Given the description of an element on the screen output the (x, y) to click on. 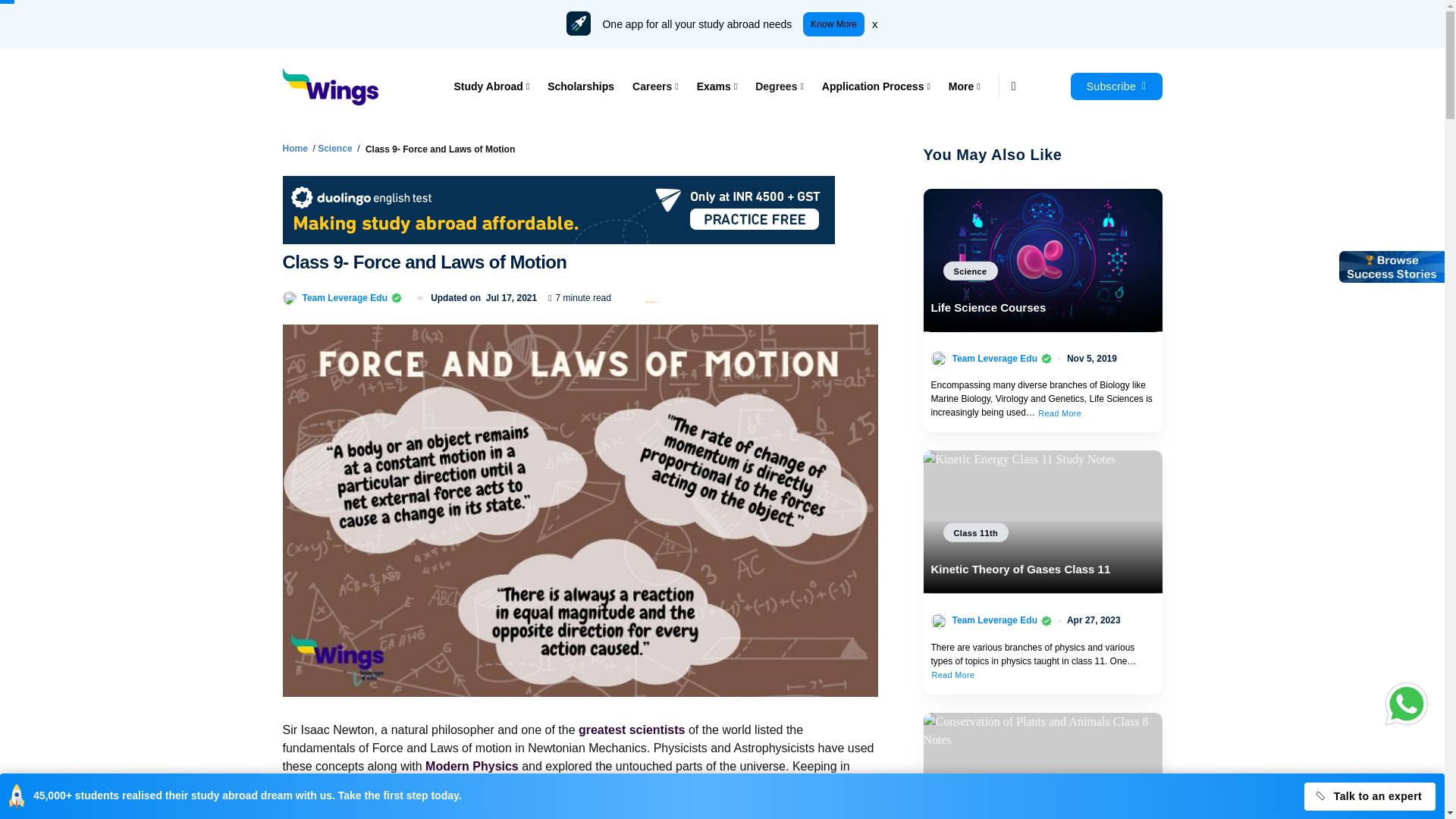
View all posts by Team Leverage Edu (995, 620)
View all posts by Team Leverage Edu (344, 297)
View all posts by Team Leverage Edu (995, 358)
